Given the description of an element on the screen output the (x, y) to click on. 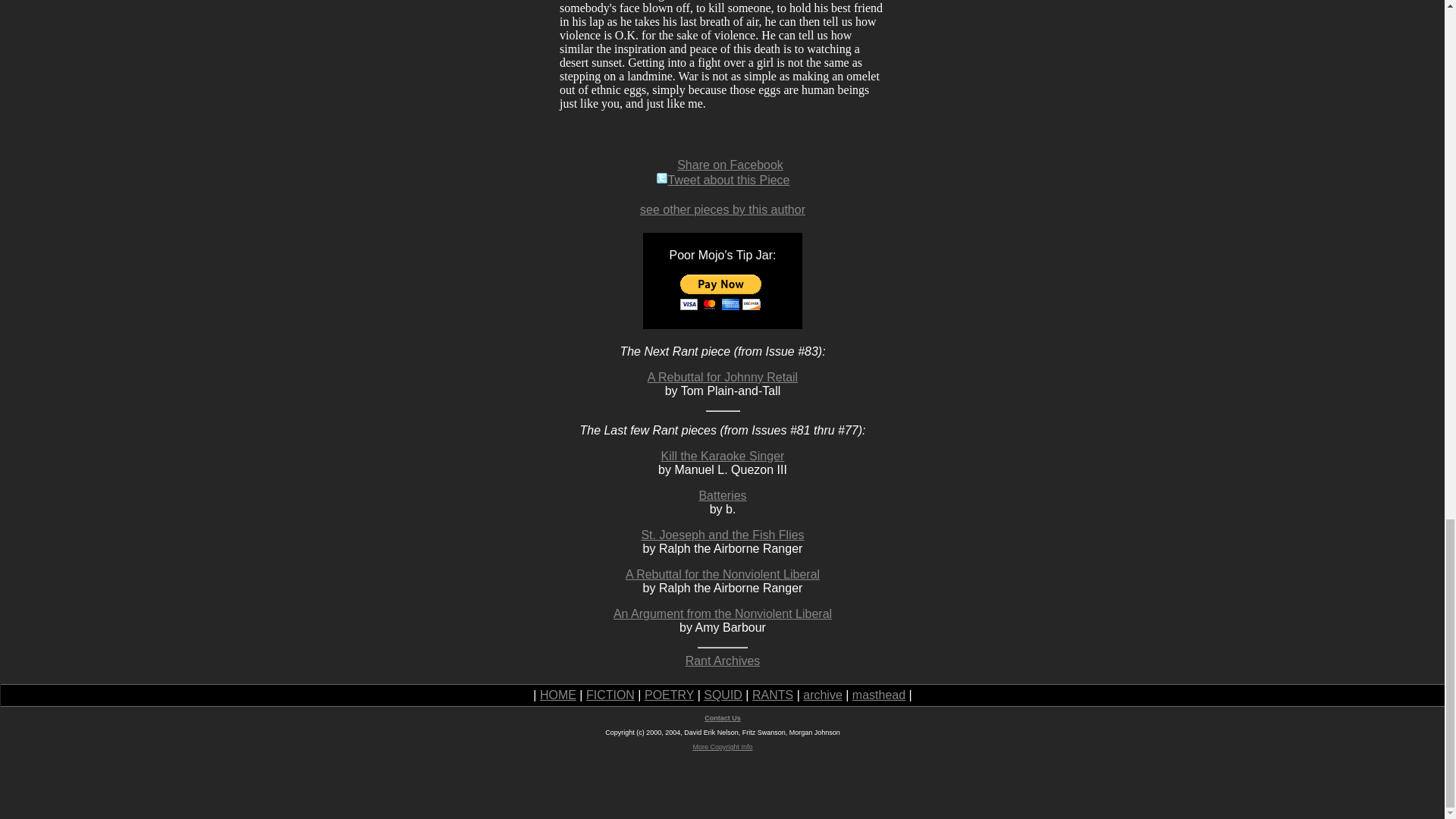
SQUID (722, 694)
Kill the Karaoke Singer (722, 455)
POETRY (669, 694)
Contact Us (722, 717)
FICTION (610, 694)
More Copyright Info (722, 746)
masthead (878, 694)
RANTS (772, 694)
A Rebuttal for the Nonviolent Liberal (722, 574)
A Rebuttal for Johnny Retail (722, 377)
